Given the description of an element on the screen output the (x, y) to click on. 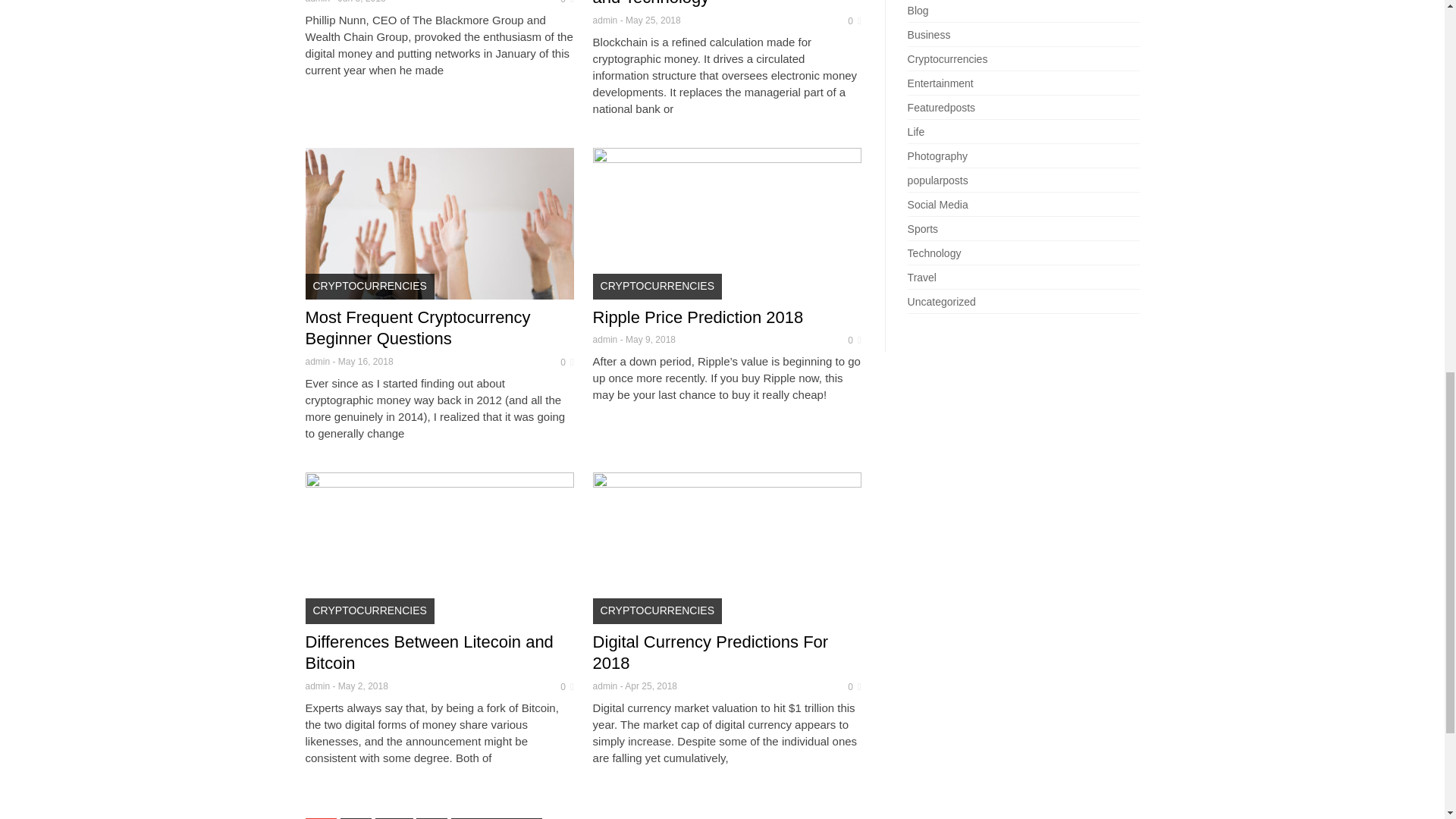
Permanent Link to Ripple Price Prediction 2018 (697, 316)
Posts by admin (317, 361)
Blockchain: Transforming Business and Technology (721, 3)
admin (604, 20)
Posts by admin (604, 339)
0 (850, 20)
admin (317, 2)
Posts by admin (604, 20)
Posts by admin (317, 2)
